Given the description of an element on the screen output the (x, y) to click on. 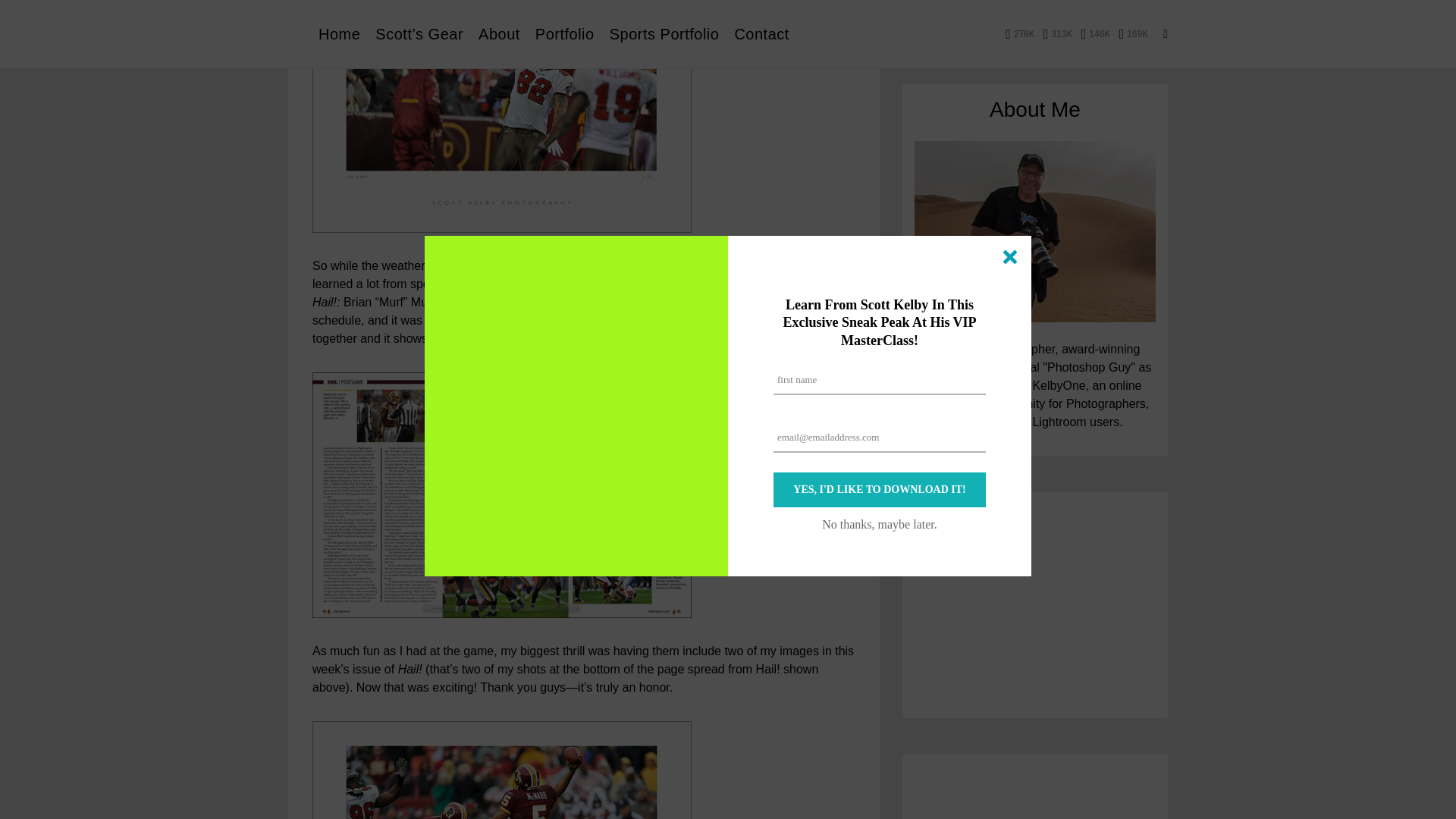
Skins2 (502, 116)
